Given the description of an element on the screen output the (x, y) to click on. 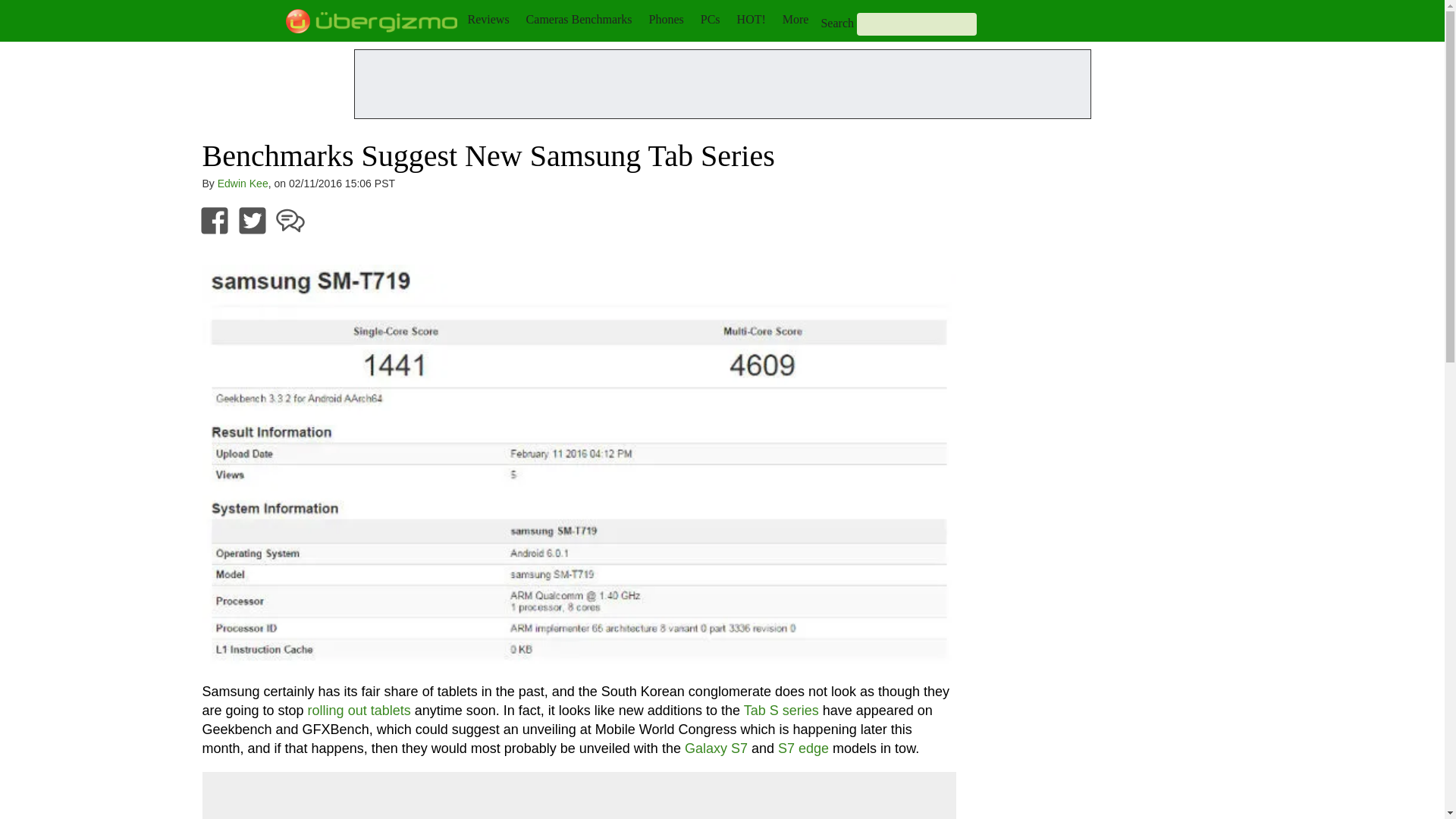
PCs (710, 19)
Phones (666, 19)
Reviews (487, 19)
Cameras Benchmarks (578, 19)
